Given the description of an element on the screen output the (x, y) to click on. 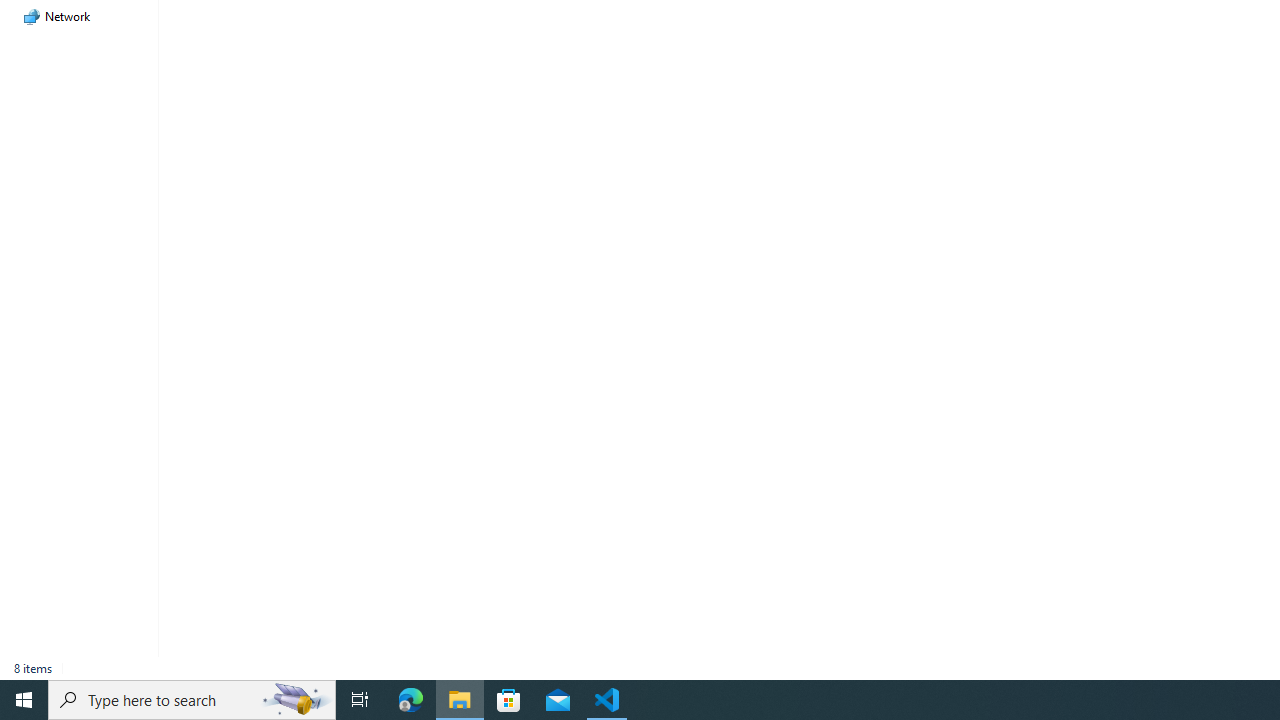
File Explorer - 1 running window (460, 699)
